Given the description of an element on the screen output the (x, y) to click on. 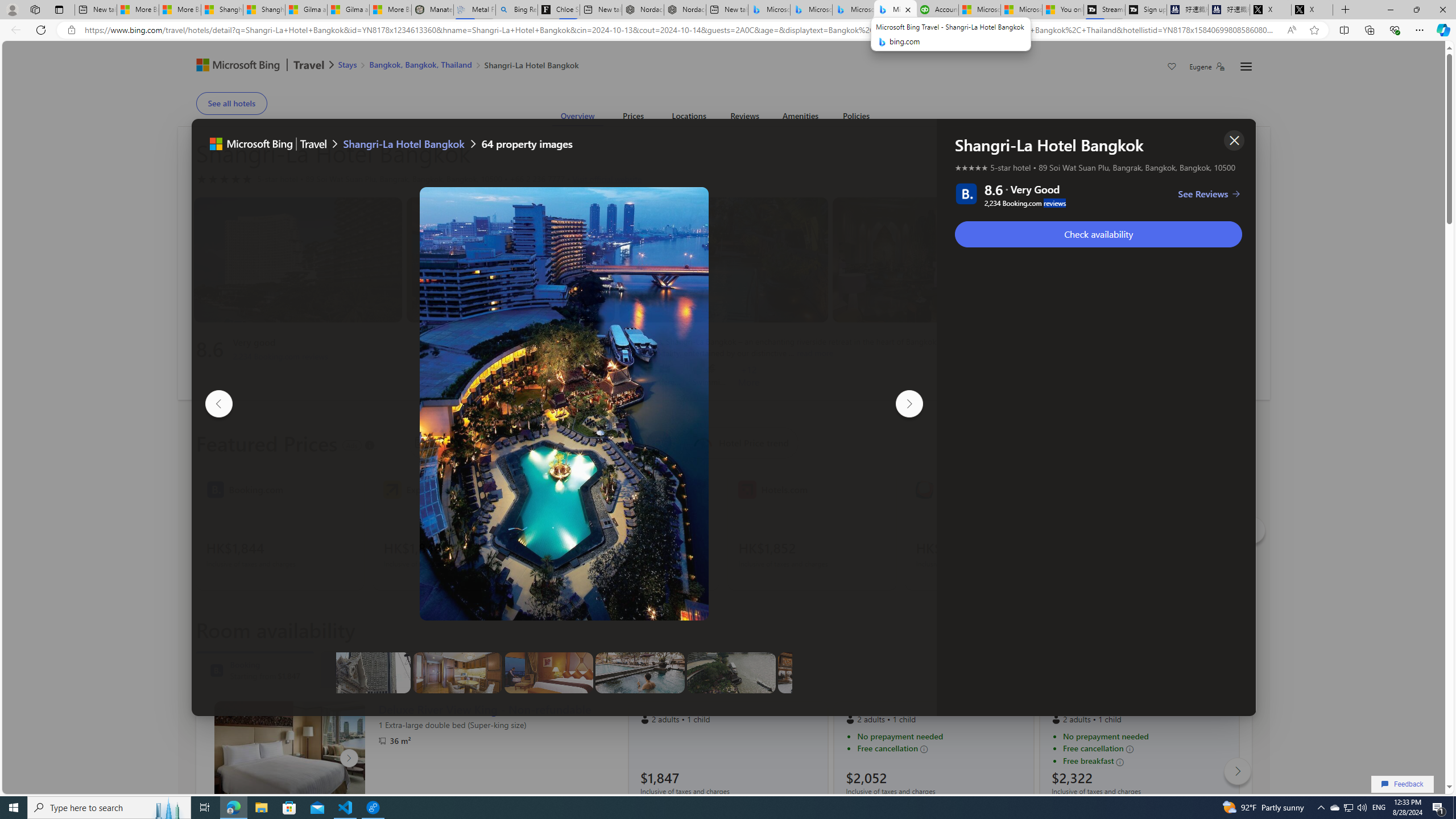
Chloe Sorvino (558, 9)
Bing Real Estate - Home sales and rental listings (516, 9)
